Given the description of an element on the screen output the (x, y) to click on. 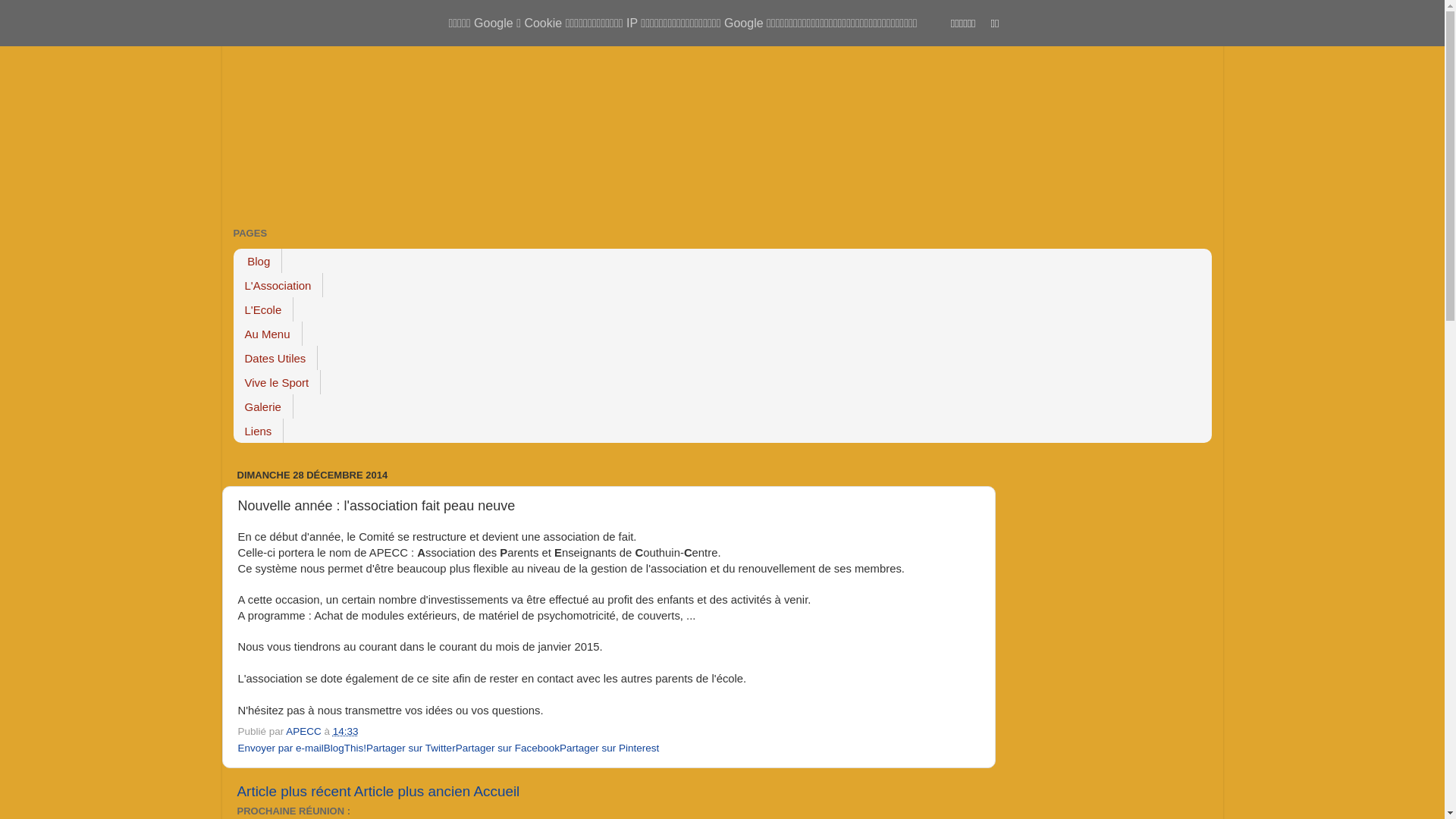
14:33 Element type: text (345, 731)
Envoyer l'article par e-mail Element type: hover (367, 731)
Galerie Element type: text (263, 406)
Partager sur Facebook Element type: text (507, 747)
Partager sur Twitter Element type: text (410, 747)
BlogThis! Element type: text (344, 747)
Envoyer par e-mail Element type: text (280, 747)
Liens Element type: text (258, 430)
APECC Element type: text (304, 731)
L'Ecole Element type: text (263, 309)
Partager sur Pinterest Element type: text (608, 747)
Accueil Element type: text (496, 791)
L'Association Element type: text (278, 285)
Au Menu Element type: text (267, 333)
Vive le Sport Element type: text (277, 382)
Article plus ancien Element type: text (412, 791)
Blog Element type: text (257, 260)
Dates Utiles Element type: text (275, 357)
